Given the description of an element on the screen output the (x, y) to click on. 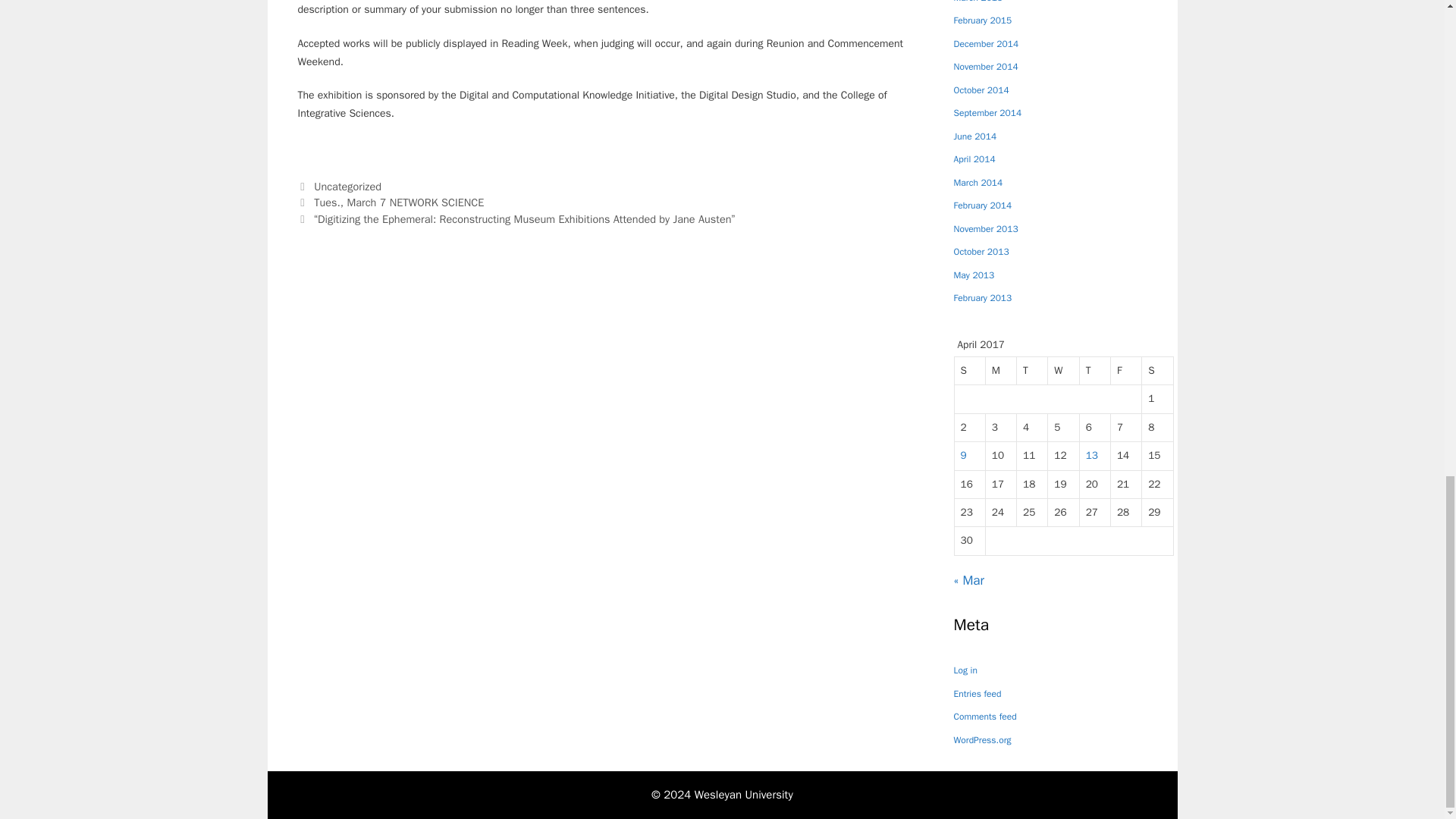
June 2014 (975, 139)
Saturday (1157, 370)
Wednesday (1063, 370)
Tuesday (1032, 370)
March 2015 (978, 5)
September 2014 (987, 116)
February 2015 (982, 24)
Monday (1000, 370)
December 2014 (986, 47)
Thursday (1095, 370)
